Given the description of an element on the screen output the (x, y) to click on. 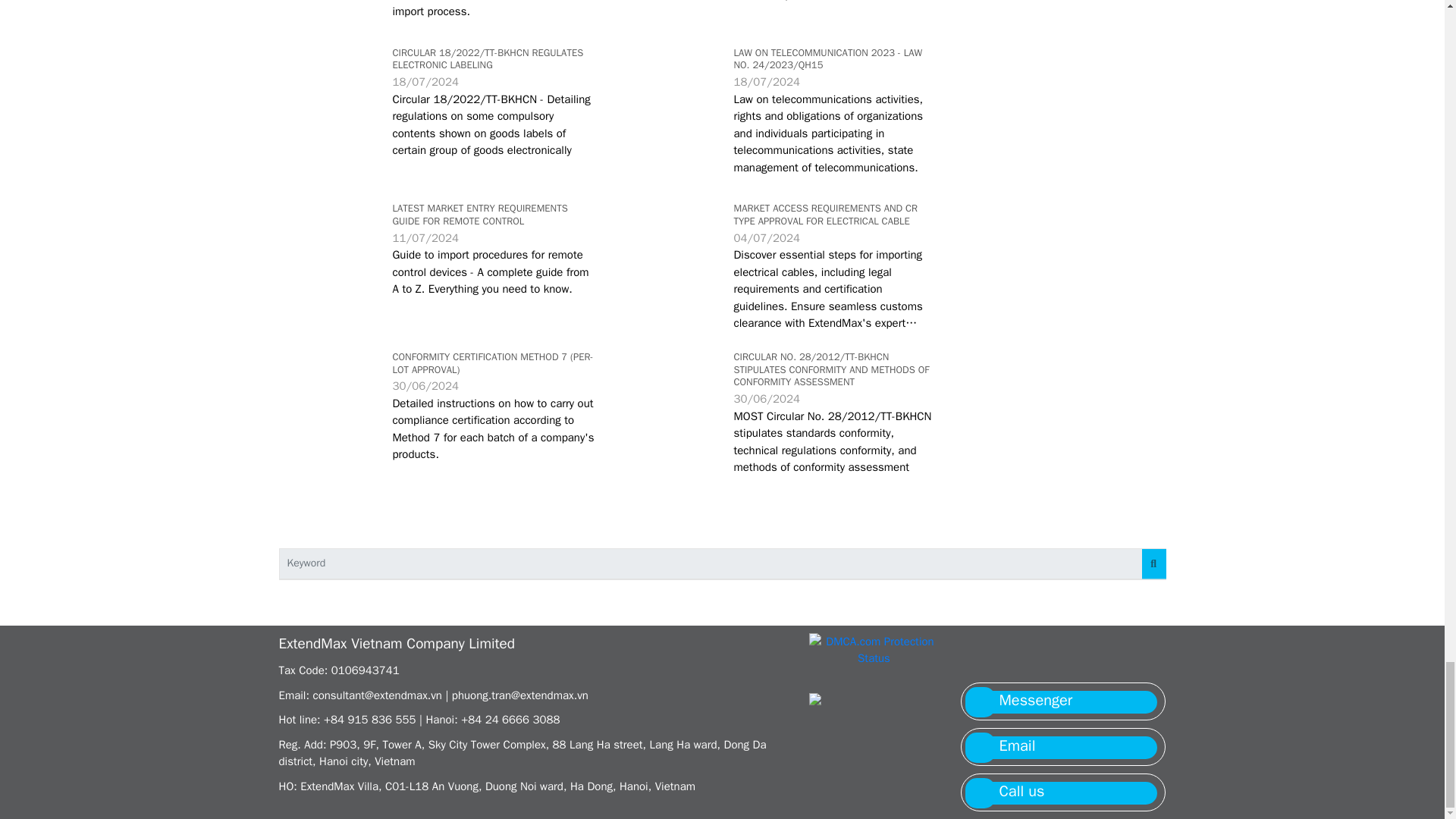
Latest market entry requirements guide for remote control (324, 232)
